Given the description of an element on the screen output the (x, y) to click on. 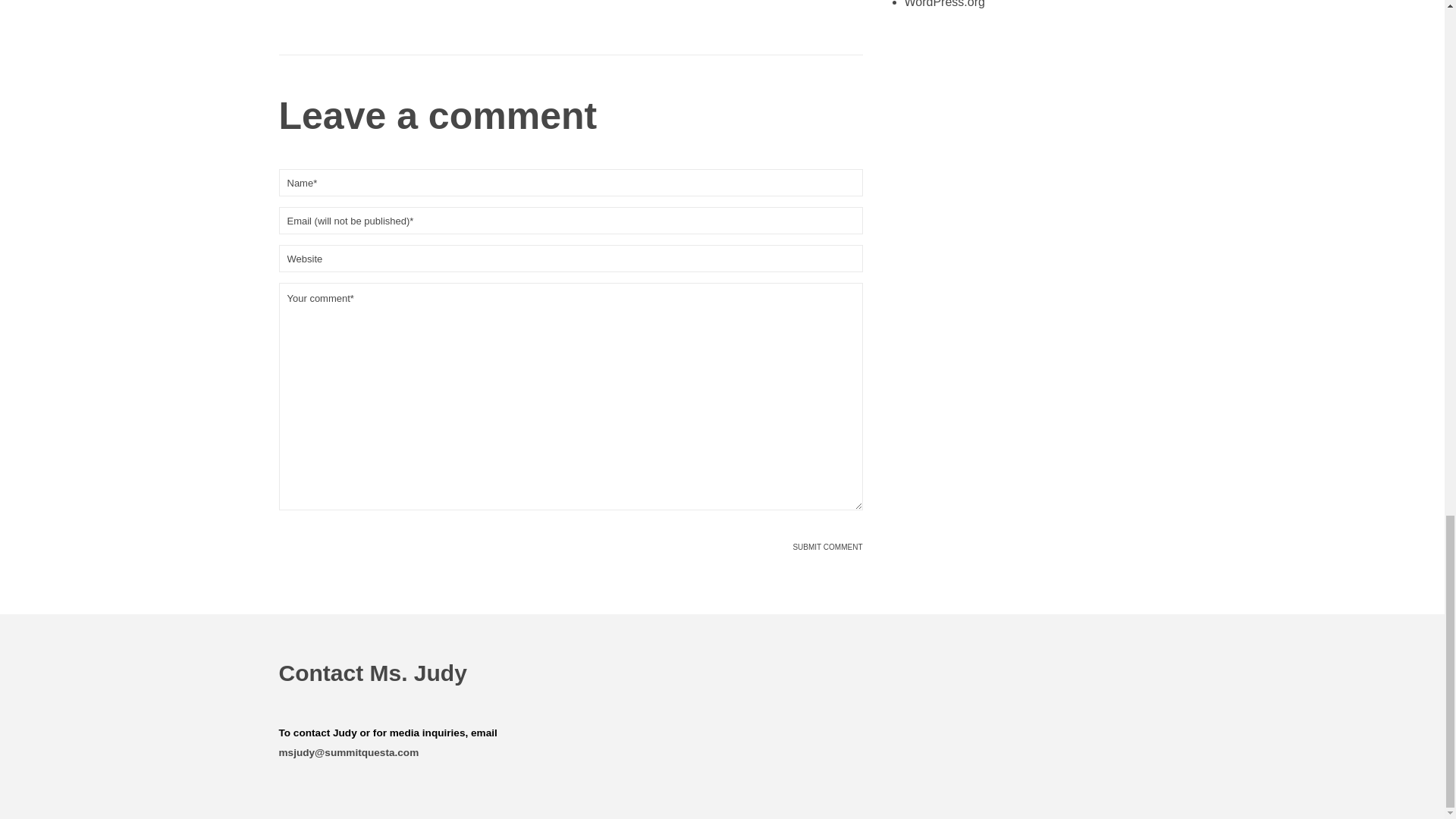
Submit Comment (826, 547)
Website (571, 257)
WordPress.org (944, 4)
Submit Comment (826, 547)
